Given the description of an element on the screen output the (x, y) to click on. 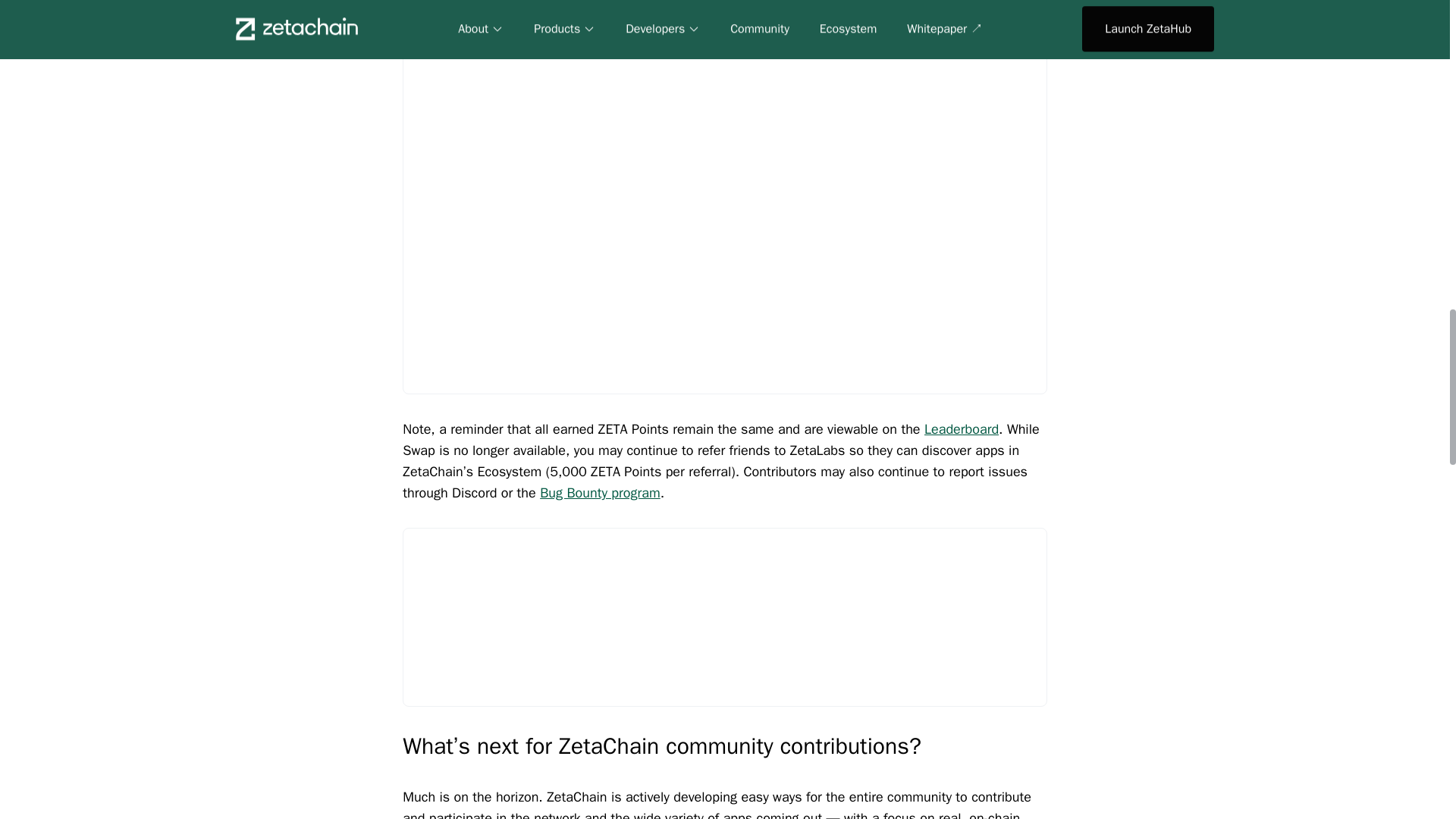
Leaderboard (961, 428)
Bug Bounty program (600, 492)
